Given the description of an element on the screen output the (x, y) to click on. 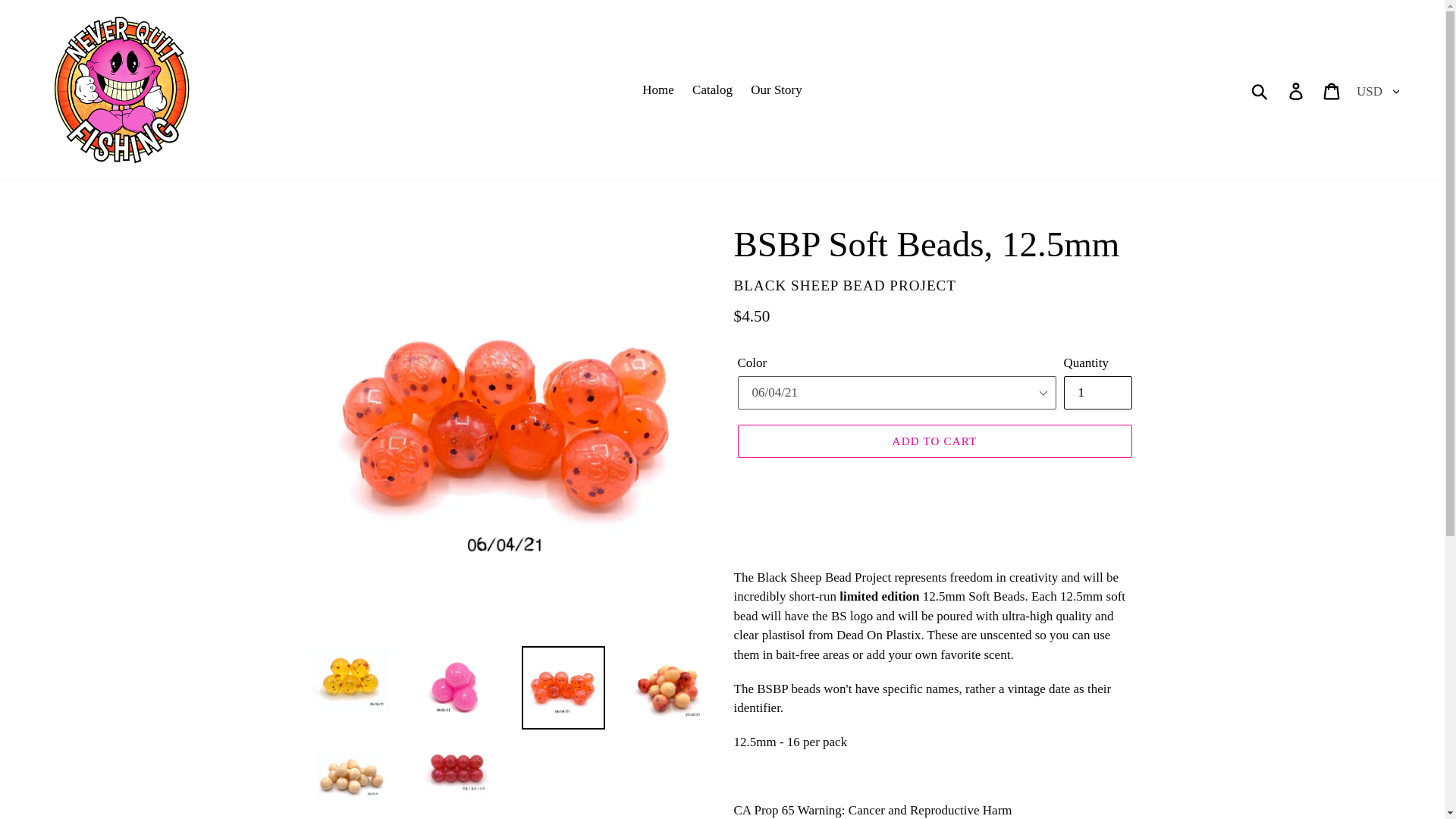
Log in (1296, 89)
ADD TO CART (933, 441)
Cart (1332, 89)
1 (1096, 392)
Catalog (711, 89)
Home (657, 89)
Submit (1260, 90)
Our Story (775, 89)
